Given the description of an element on the screen output the (x, y) to click on. 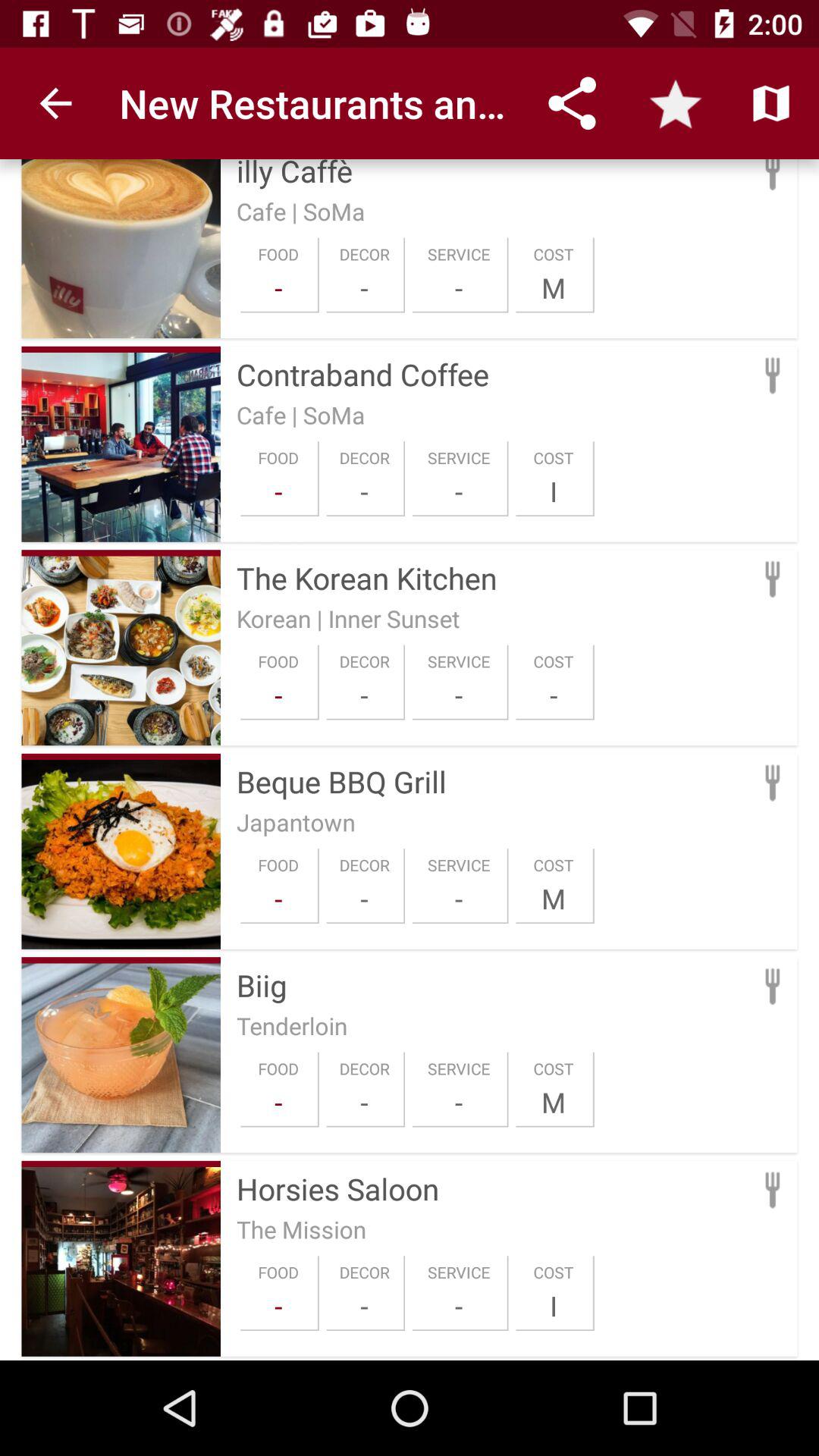
select the item to the left of the korean kitchen icon (120, 552)
